Given the description of an element on the screen output the (x, y) to click on. 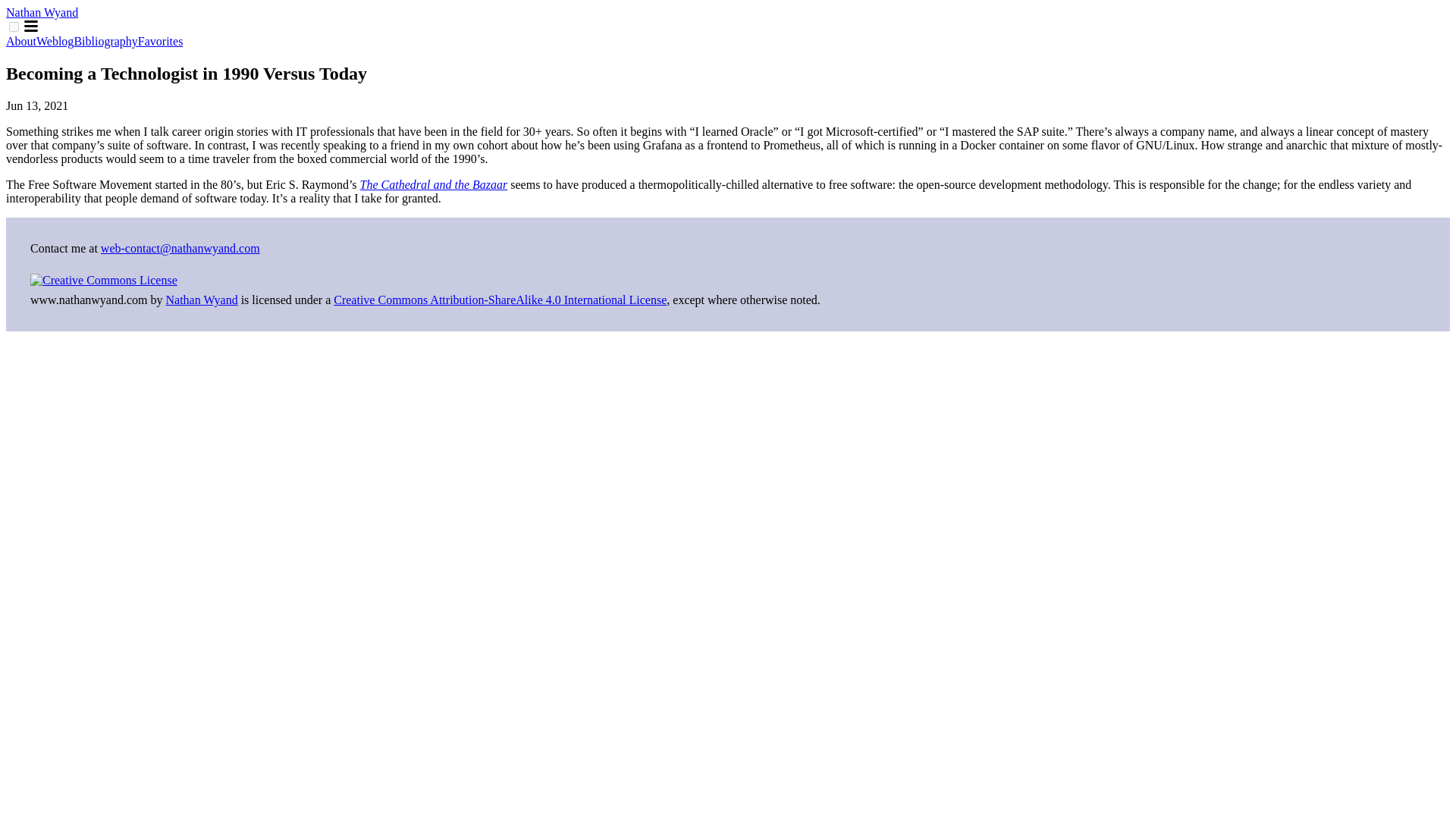
Nathan Wyand (41, 11)
on (13, 26)
Favorites (160, 41)
Nathan Wyand (201, 299)
About (20, 41)
Weblog (55, 41)
Bibliography (105, 41)
The Cathedral and the Bazaar (433, 184)
